Given the description of an element on the screen output the (x, y) to click on. 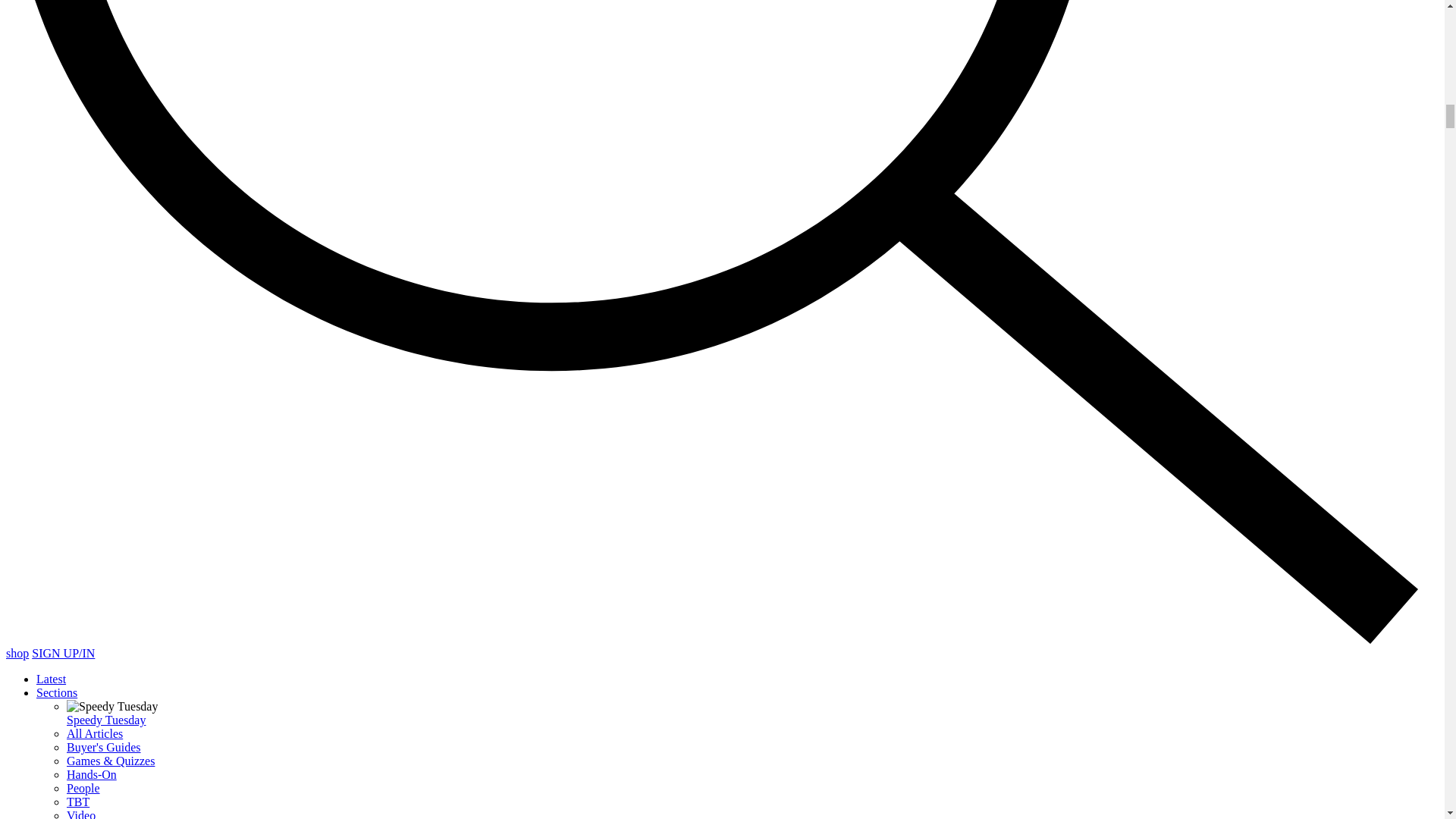
Latest (50, 678)
Speedy Tuesday (105, 719)
shop (17, 653)
People (83, 788)
Sections (56, 692)
Buyer's Guides (103, 747)
TBT (77, 801)
Video (81, 814)
All Articles (94, 733)
Hands-On (91, 774)
